Given the description of an element on the screen output the (x, y) to click on. 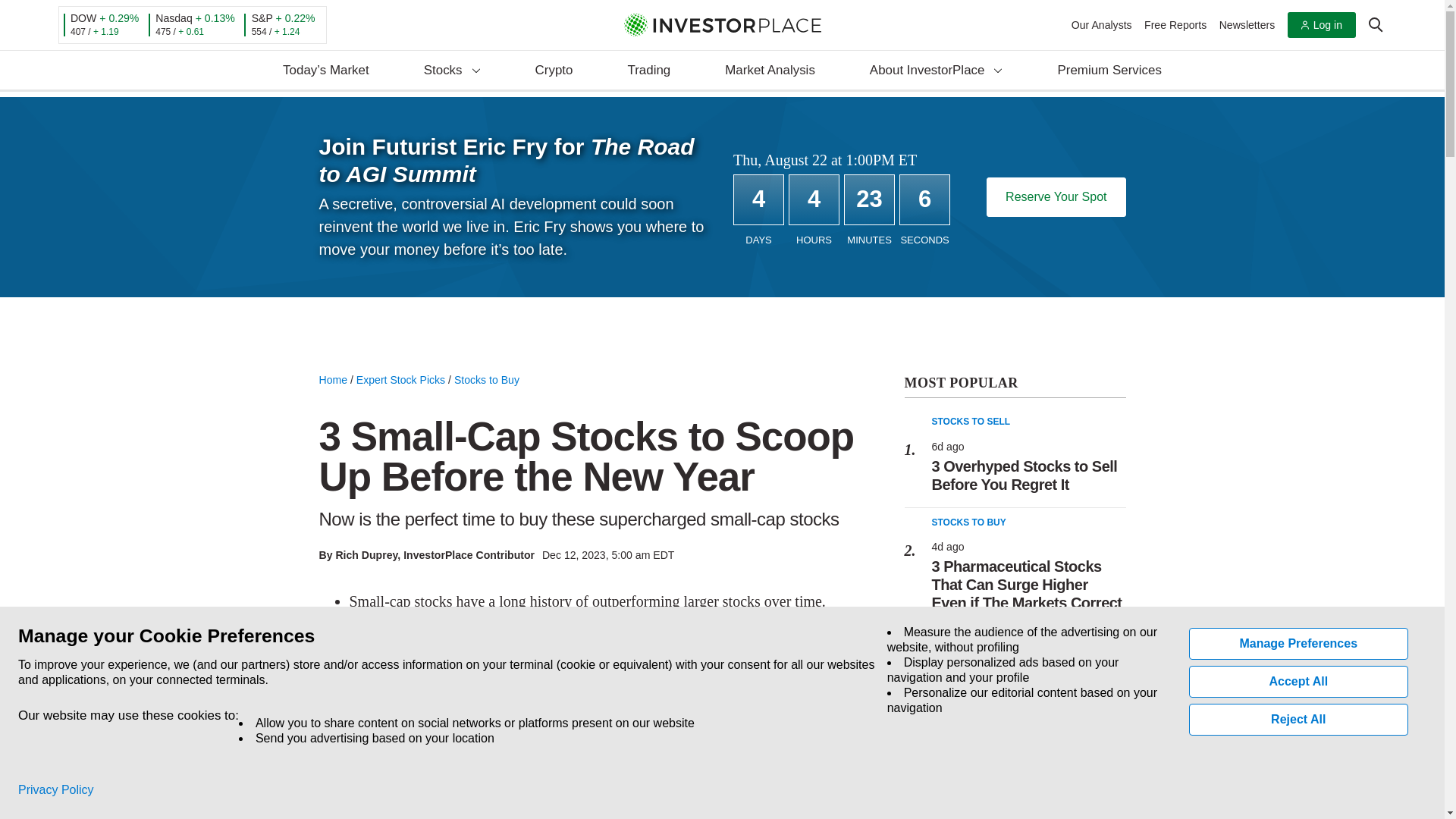
Privacy Policy (55, 789)
DOW (82, 18)
View Most Read Content (1014, 384)
Log in (1321, 25)
Free Reports (1175, 24)
Our Analysts (1101, 24)
Accept All (1299, 681)
Manage Preferences (1299, 644)
Reject All (1299, 719)
Stocks (452, 70)
